Given the description of an element on the screen output the (x, y) to click on. 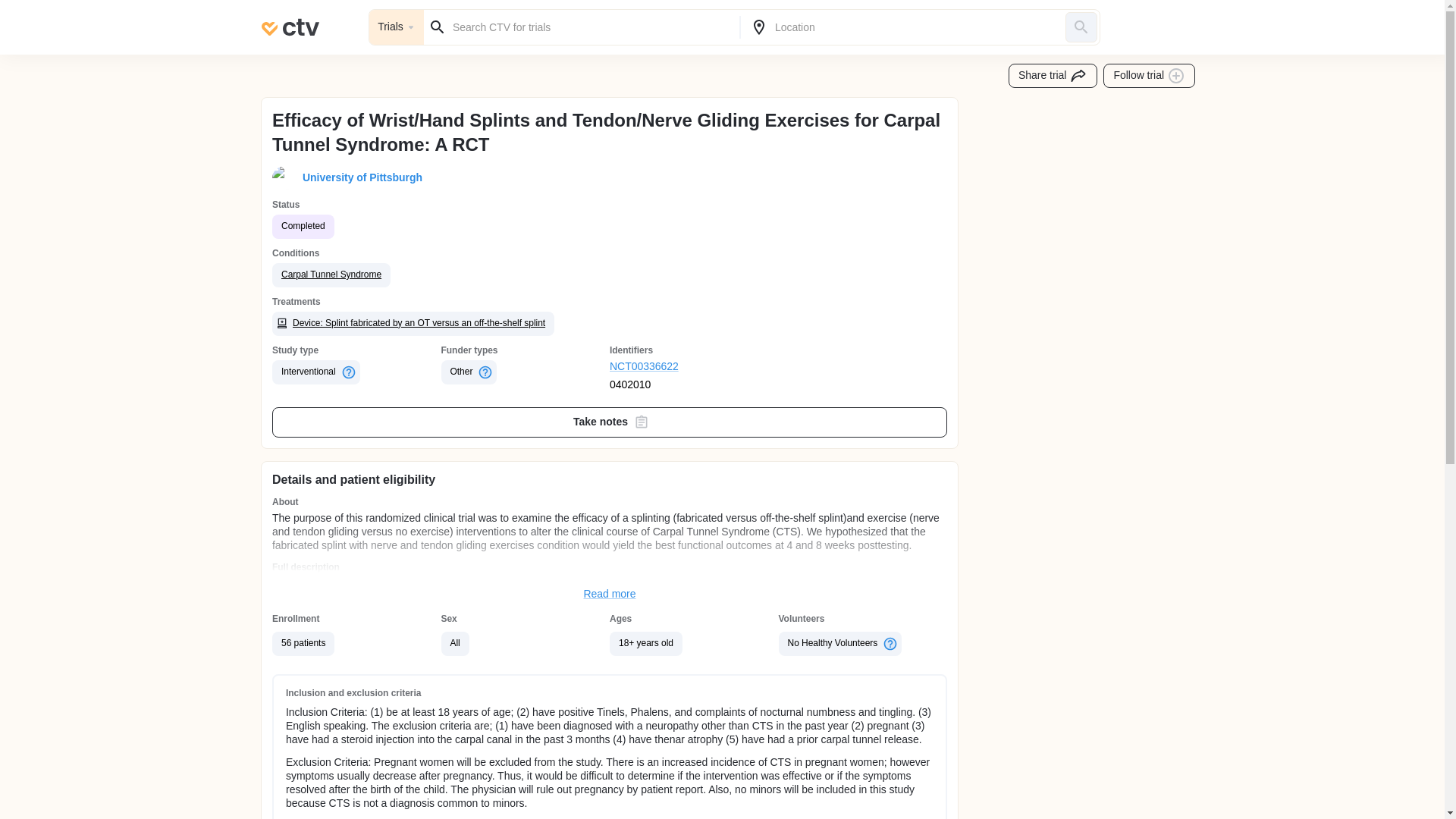
Read more (609, 594)
NCT00336622 (694, 366)
Trials (396, 27)
Take notes (609, 422)
Follow trial (1149, 75)
University of Pittsburgh (359, 178)
Share trial (1053, 75)
